Given the description of an element on the screen output the (x, y) to click on. 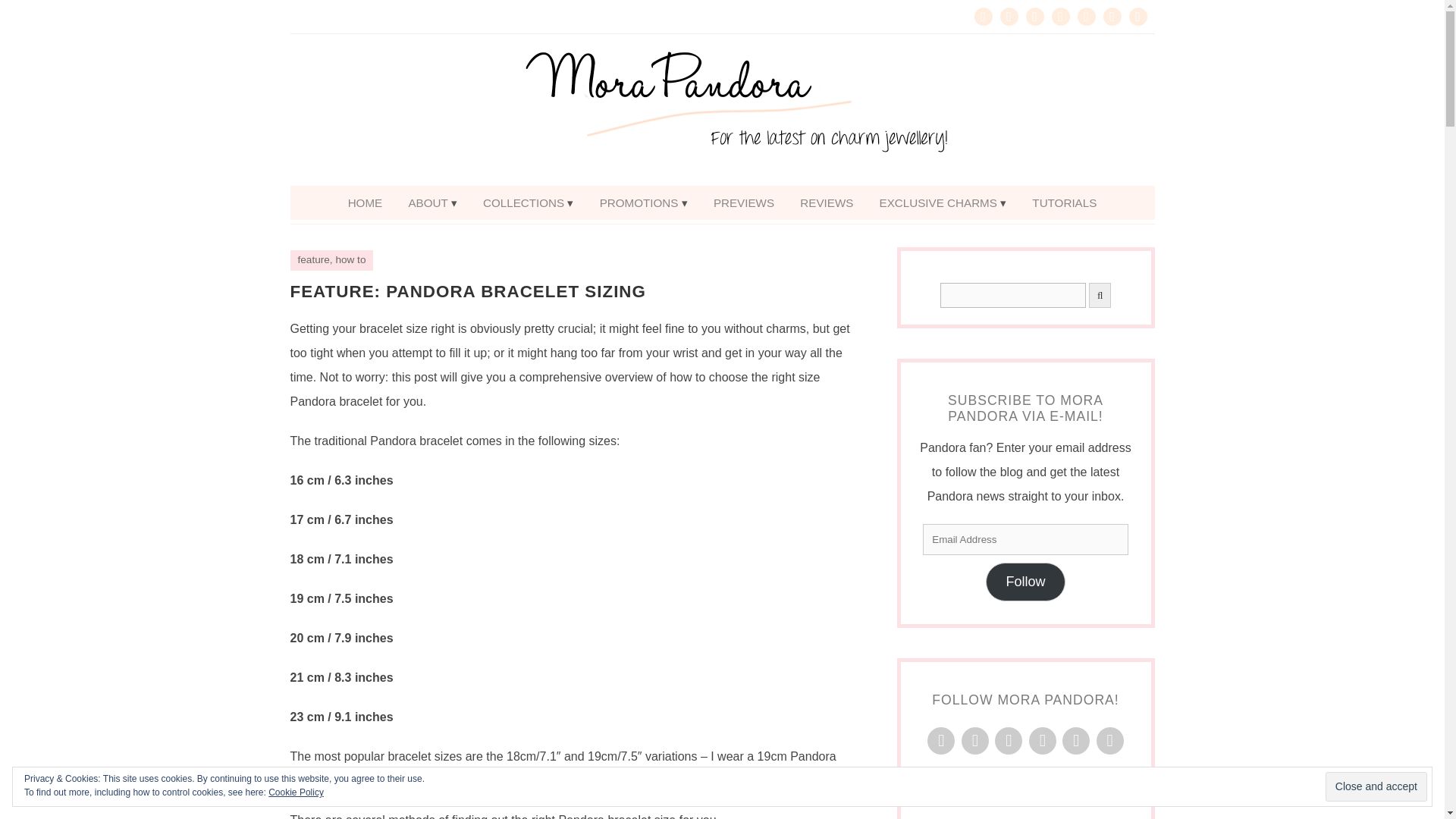
TUTORIALS (1064, 202)
Search (1013, 294)
PROMOTIONS (643, 202)
feature (313, 259)
EXCLUSIVE CHARMS (942, 202)
ABOUT (431, 202)
REVIEWS (826, 202)
Feature: Pandora Bracelet Sizing (467, 291)
FEATURE: PANDORA BRACELET SIZING (467, 291)
Close and accept (1375, 786)
COLLECTIONS (528, 202)
PREVIEWS (743, 202)
HOME (365, 202)
Mora Pandora (721, 109)
how to (349, 259)
